Given the description of an element on the screen output the (x, y) to click on. 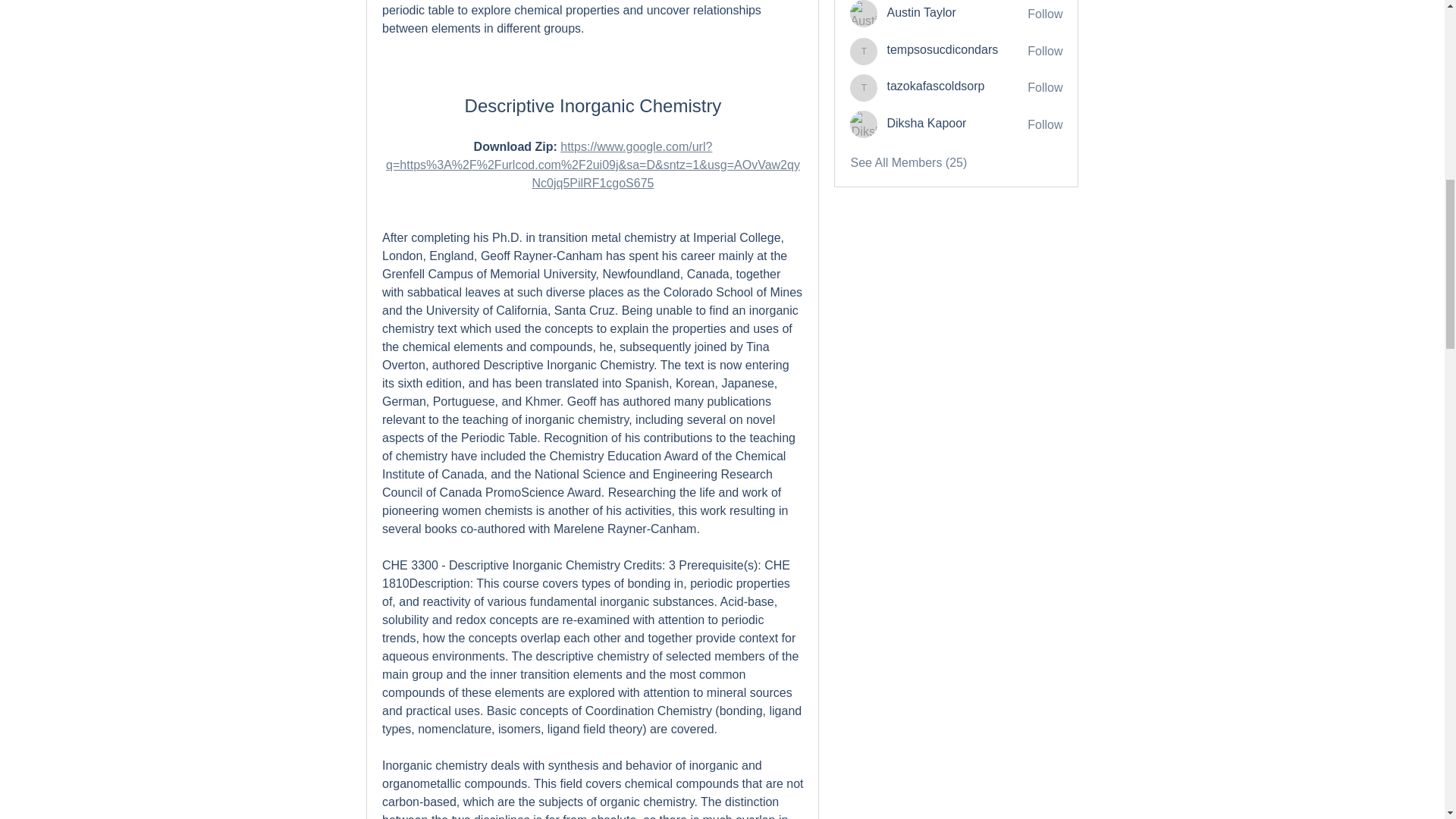
Follow (1044, 13)
Diksha Kapoor (863, 124)
Follow (1044, 87)
tempsosucdicondars (941, 49)
tazokafascoldsorp (863, 87)
Follow (1044, 125)
Austin Taylor (863, 13)
tempsosucdicondars (941, 49)
tazokafascoldsorp (935, 86)
Austin Taylor (920, 11)
